Given the description of an element on the screen output the (x, y) to click on. 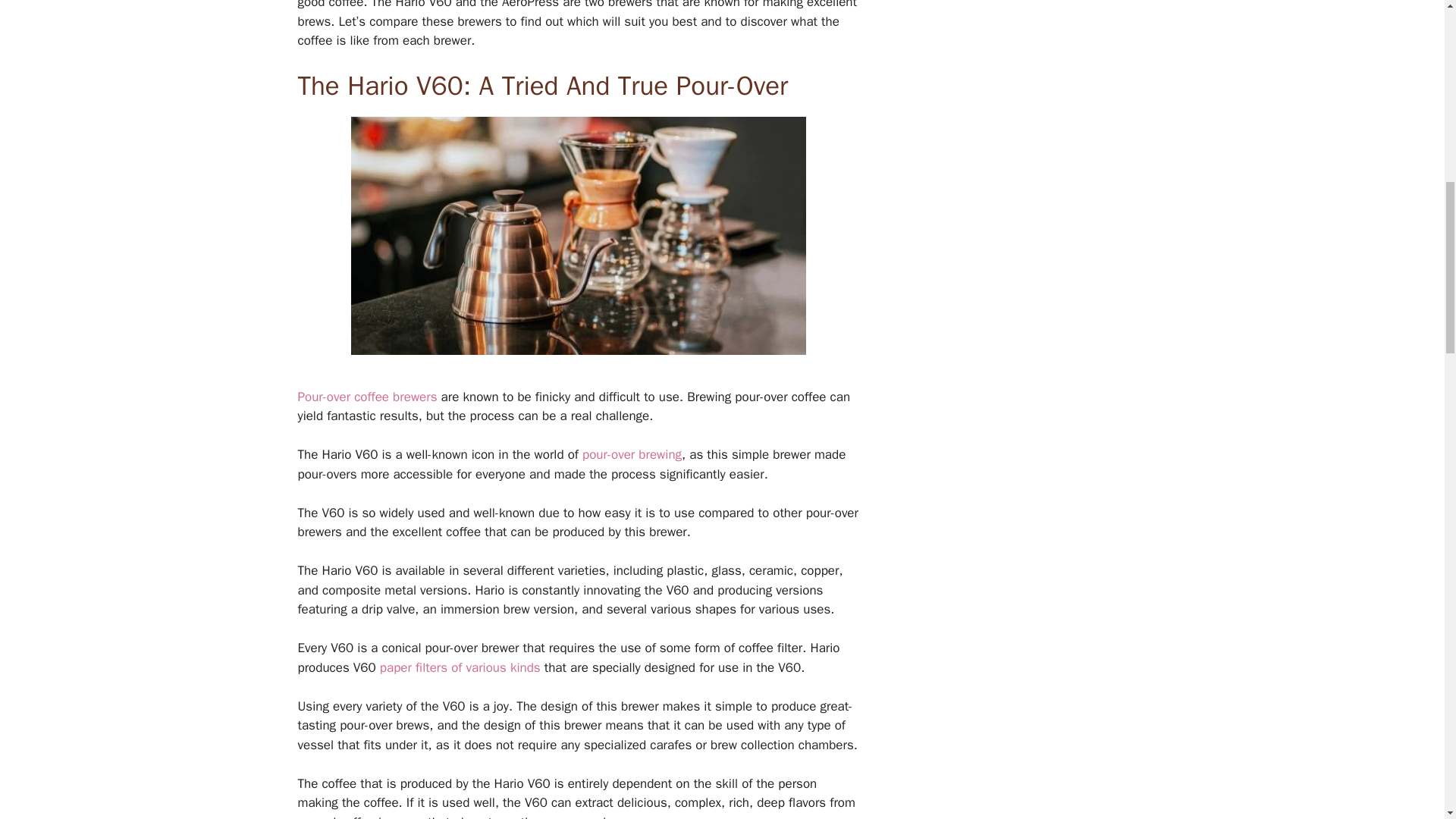
paper filters of various kinds (457, 667)
pour-over brewing (631, 454)
Pour-over coffee brewers (369, 396)
